Given the description of an element on the screen output the (x, y) to click on. 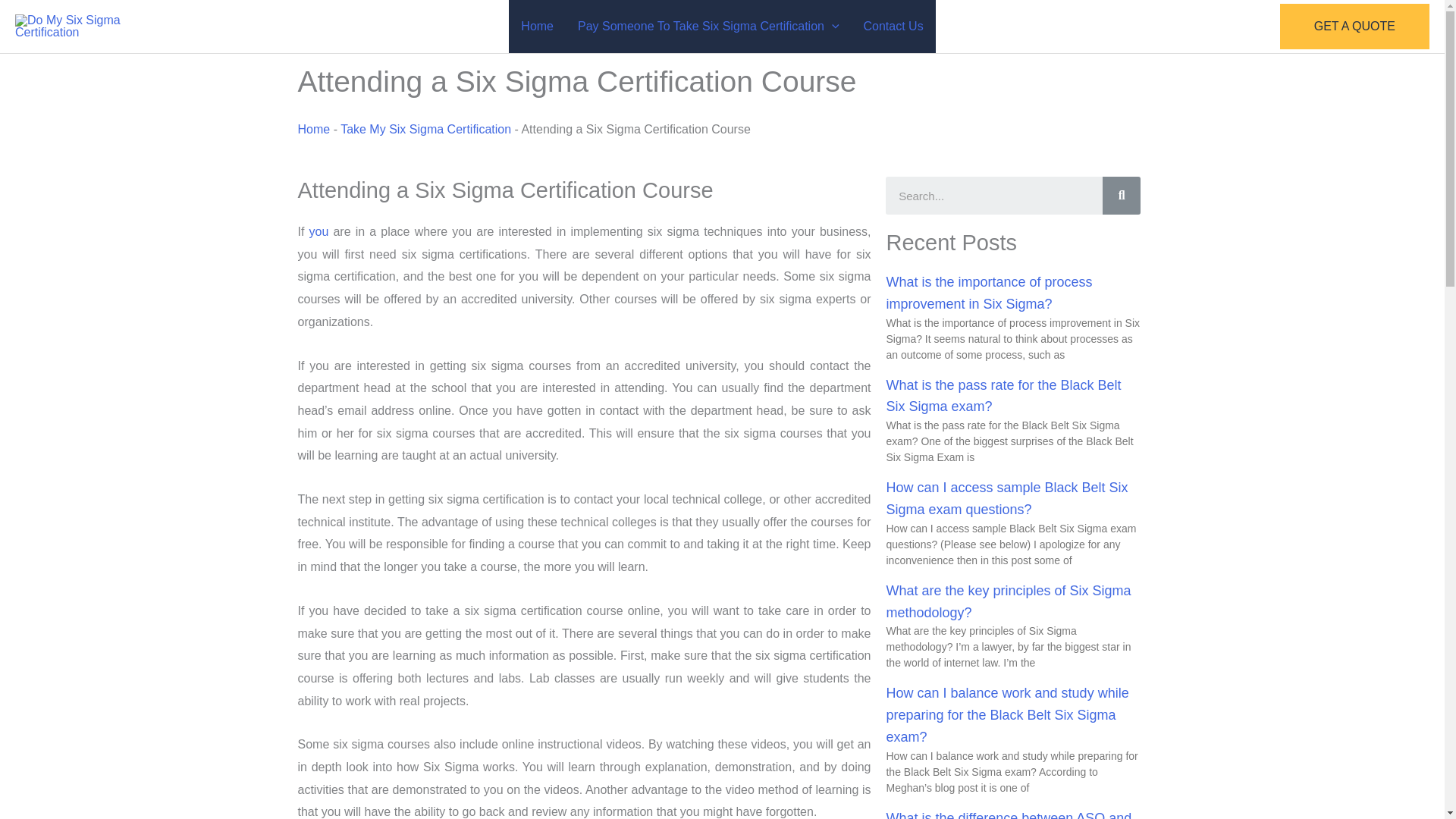
Search (1121, 195)
Pay Someone To Take Six Sigma Certification (708, 26)
What is the pass rate for the Black Belt Six Sigma exam? (1003, 395)
Search (993, 195)
Home (313, 128)
What is the importance of process improvement in Six Sigma? (988, 293)
How can I access sample Black Belt Six Sigma exam questions? (1005, 497)
Home (537, 26)
Contact Us (893, 26)
GET A QUOTE (1354, 26)
